Given the description of an element on the screen output the (x, y) to click on. 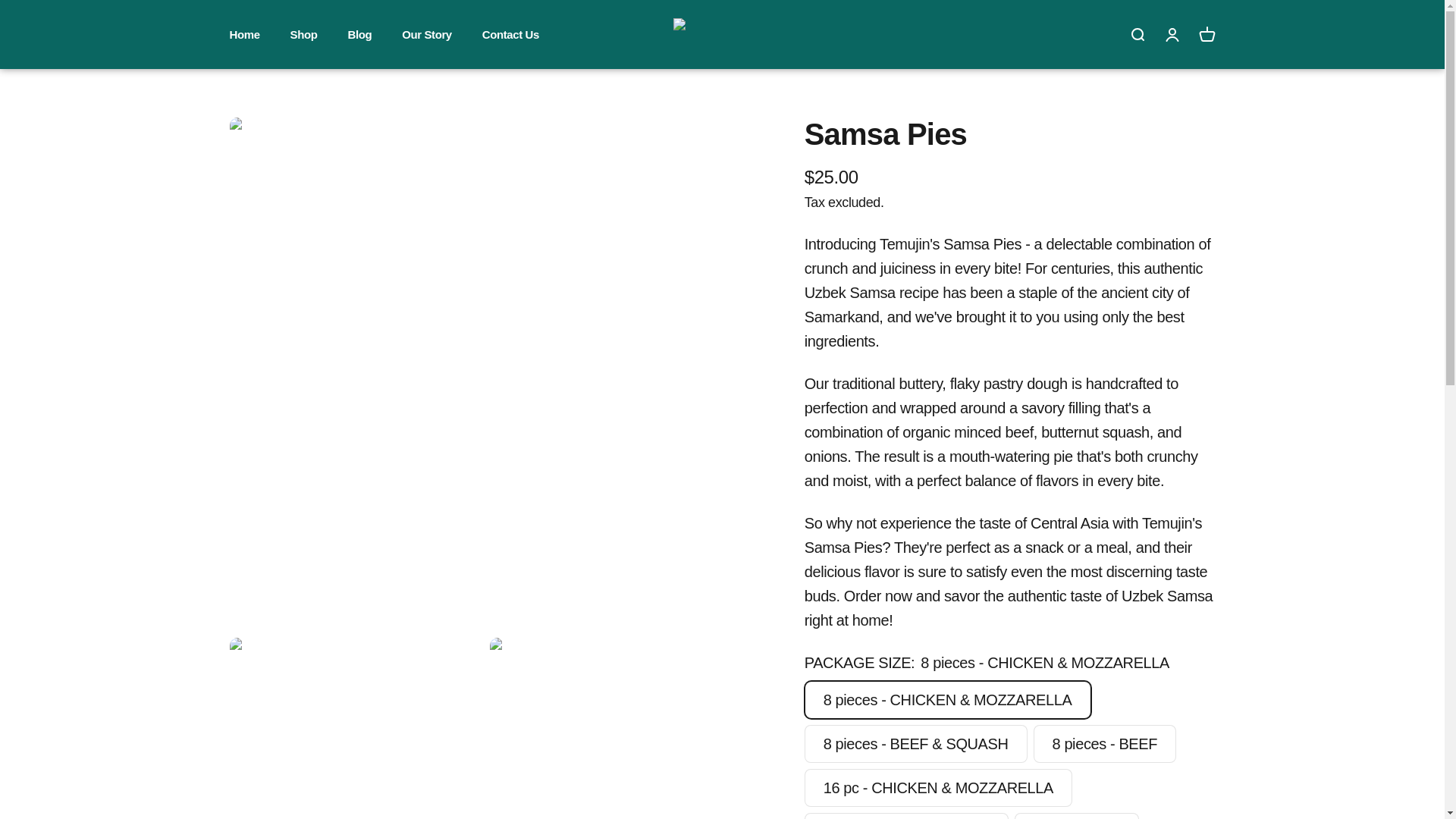
TemujinFoods (721, 34)
Home (1206, 33)
Our Story (243, 33)
8 pieces - BEEF (426, 33)
Shop (509, 33)
Blog (303, 33)
Open account page (359, 33)
